Given the description of an element on the screen output the (x, y) to click on. 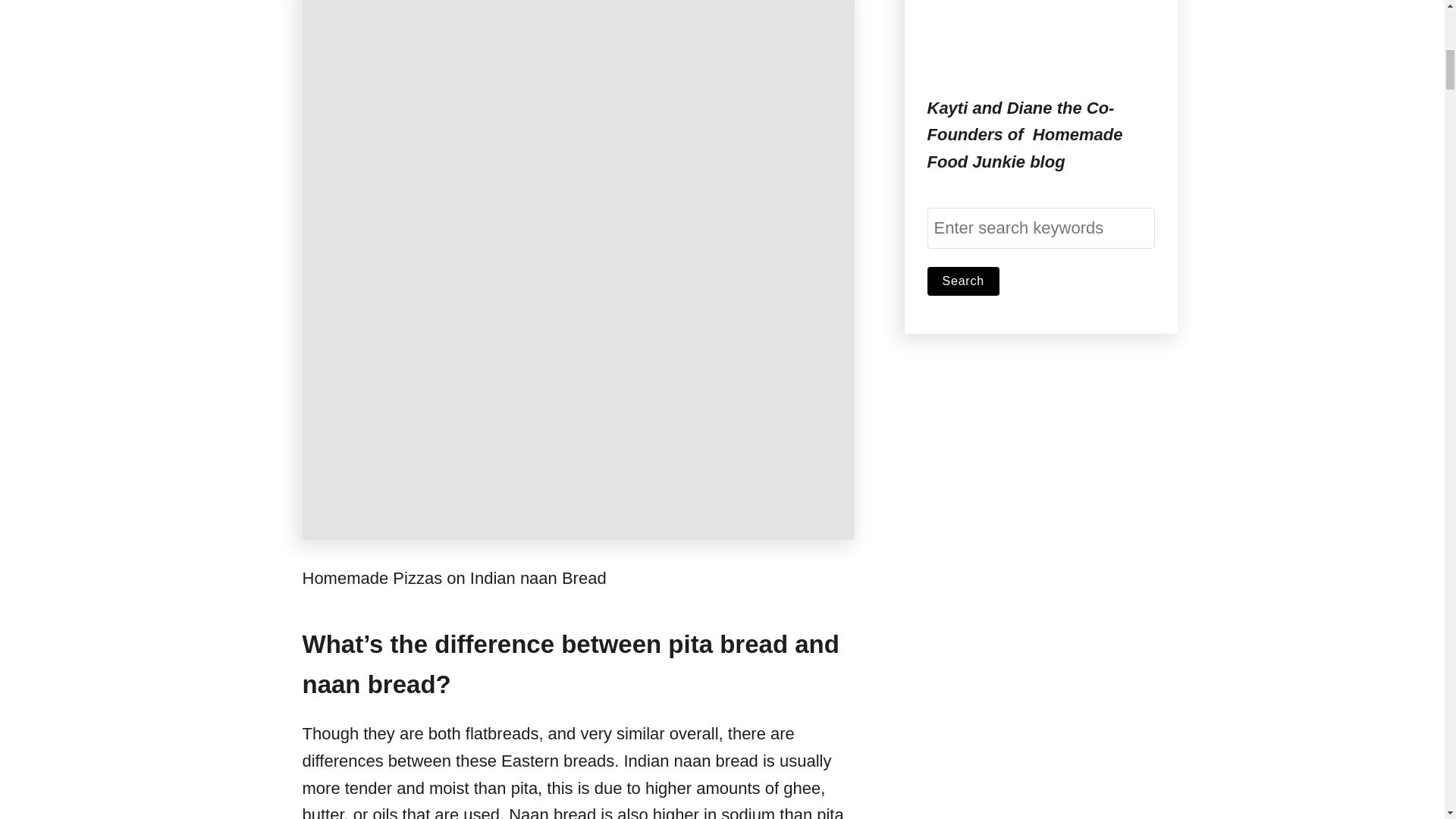
Search (962, 280)
Search (962, 280)
